Given the description of an element on the screen output the (x, y) to click on. 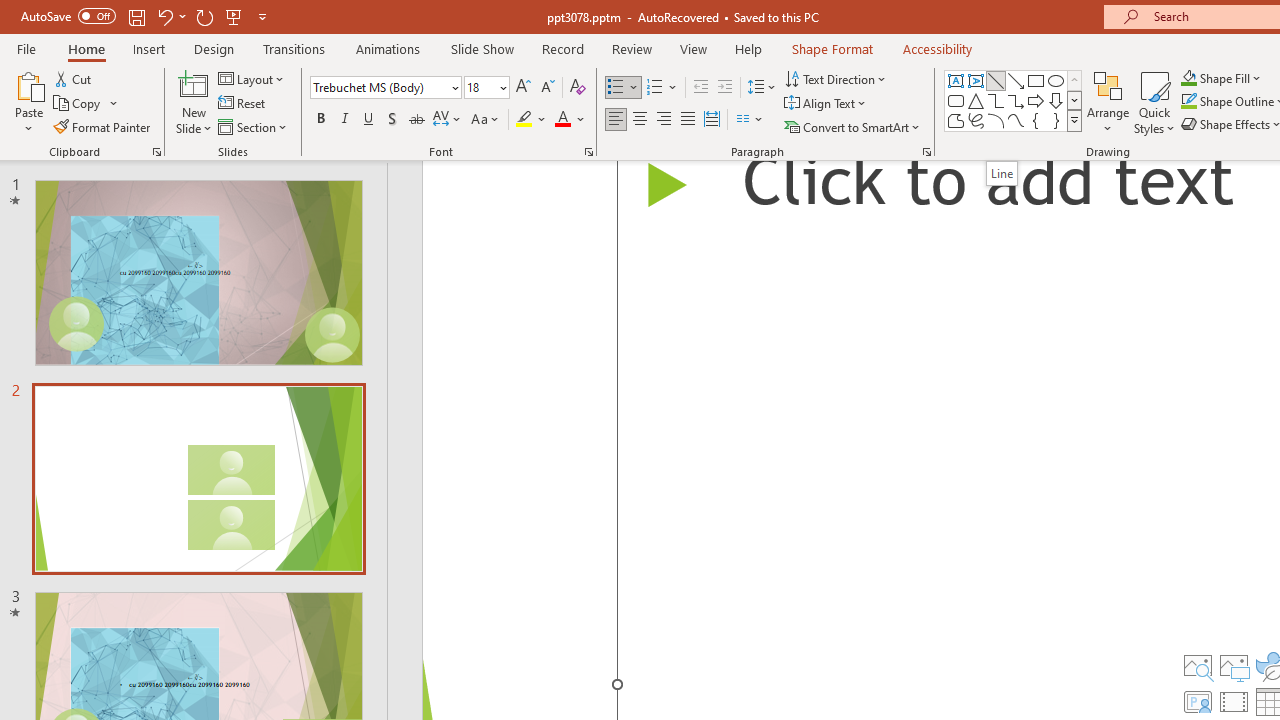
Freeform: Shape (955, 120)
Justify (687, 119)
Quick Styles (1154, 102)
Columns (750, 119)
Arc (995, 120)
Font Size (486, 87)
Decrease Indent (700, 87)
Format Painter (103, 126)
Connector: Elbow (995, 100)
Insert Cameo (1197, 701)
Layout (252, 78)
